Given the description of an element on the screen output the (x, y) to click on. 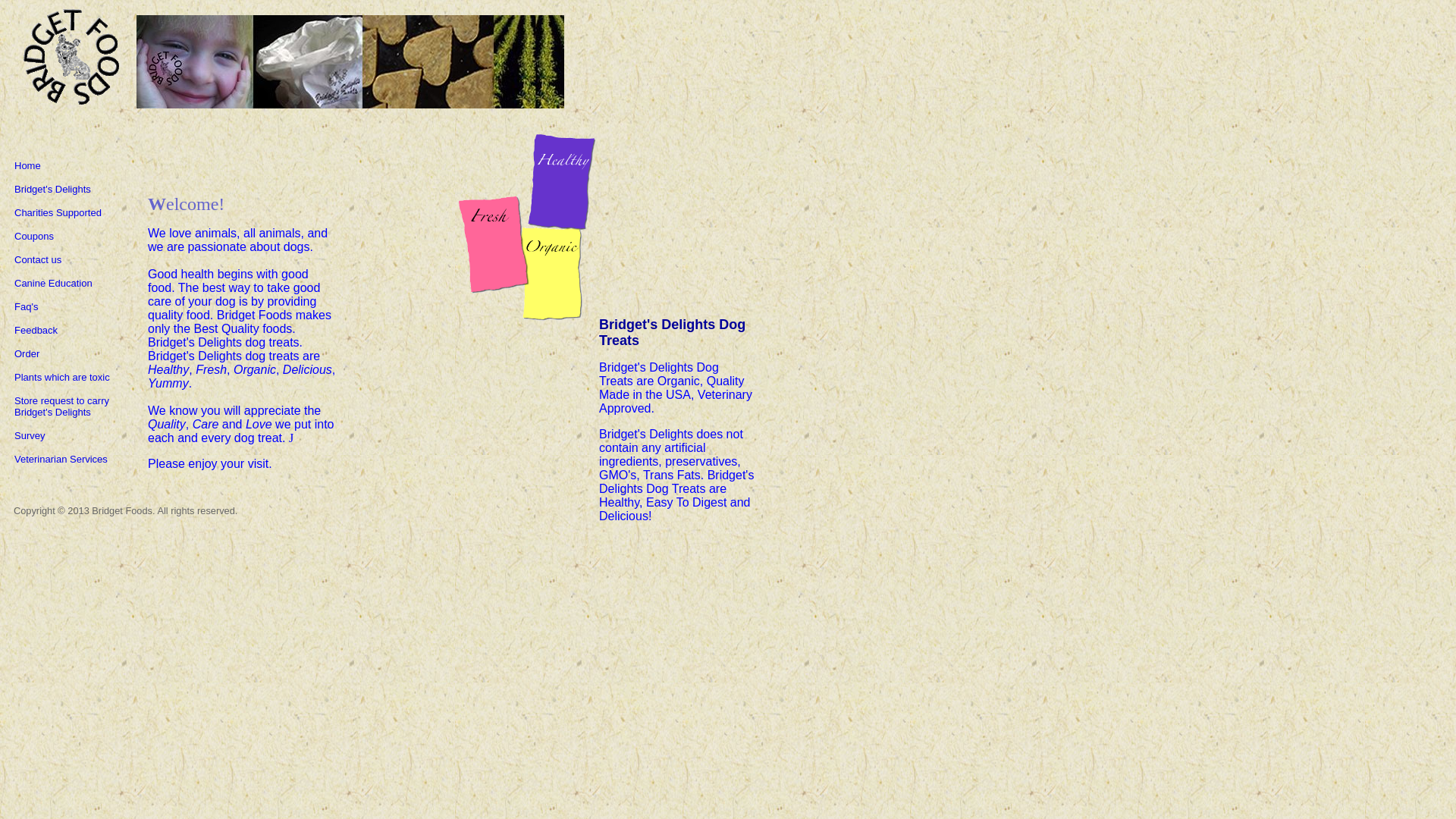
Home (27, 165)
Bridget's Delights (52, 188)
Charities Supported (57, 212)
Plants which are toxic (62, 377)
Survey (29, 435)
Veterinarian Services (60, 459)
Feedback (36, 329)
Coupons (33, 235)
Canine Education (53, 283)
Faq's (25, 306)
